Given the description of an element on the screen output the (x, y) to click on. 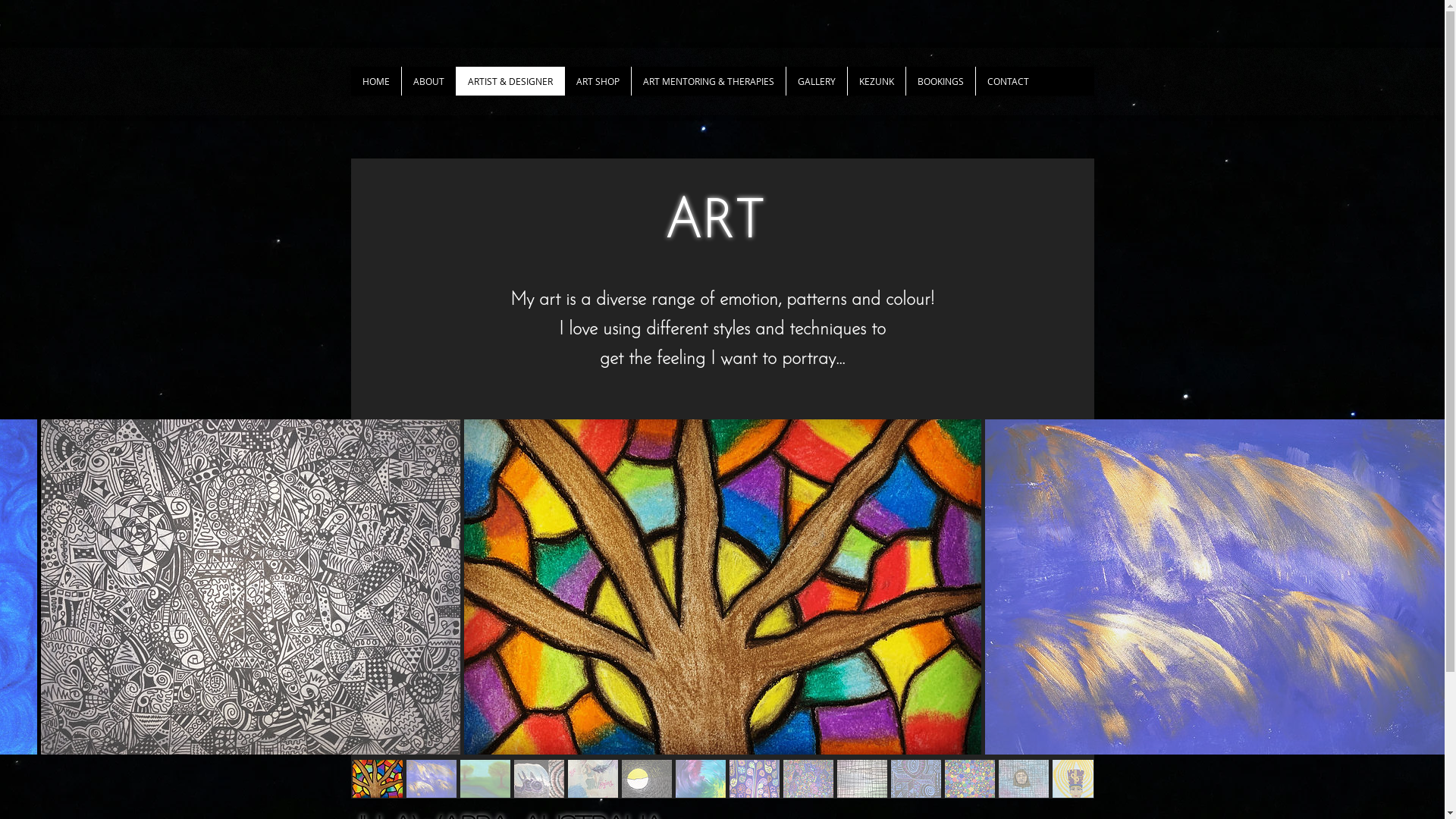
ARTIST & DESIGNER Element type: text (509, 80)
ART MENTORING & THERAPIES Element type: text (707, 80)
HOME Element type: text (375, 80)
ART SHOP Element type: text (597, 80)
ABOUT Element type: text (427, 80)
BOOKINGS Element type: text (940, 80)
CONTACT Element type: text (1007, 80)
KEZUNK Element type: text (875, 80)
GALLERY Element type: text (816, 80)
